Given the description of an element on the screen output the (x, y) to click on. 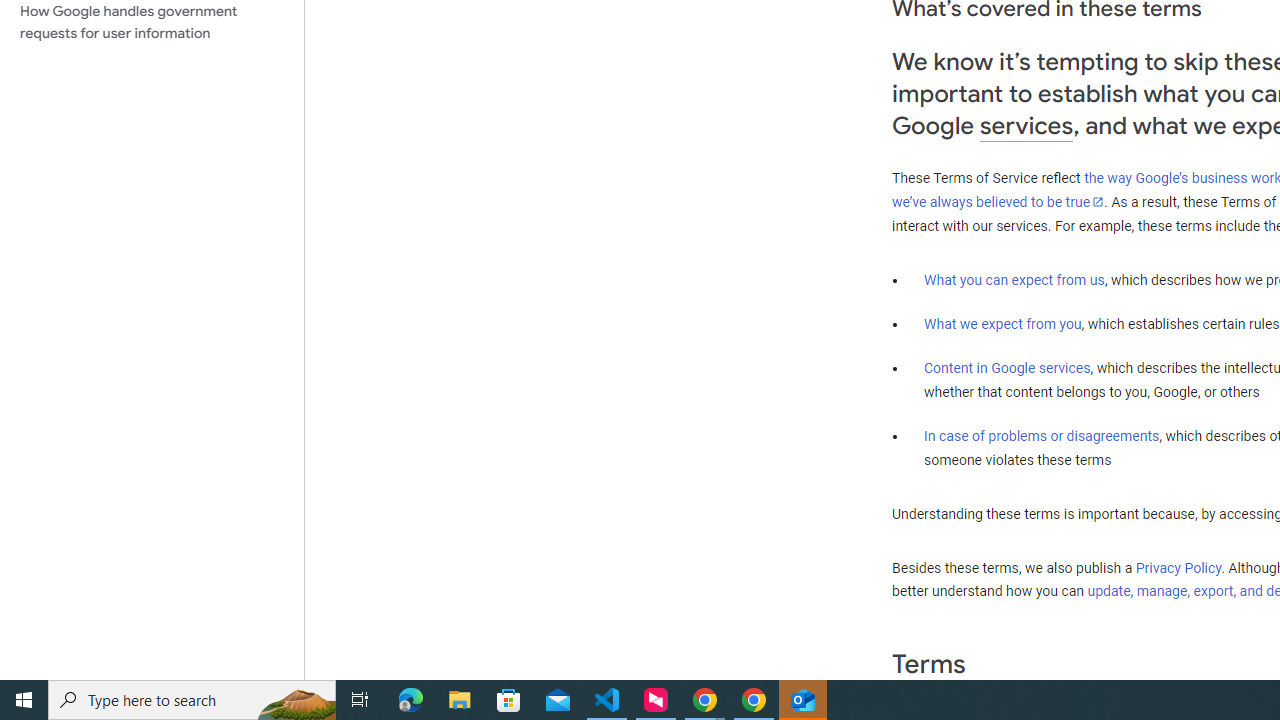
What we expect from you (1002, 323)
What you can expect from us (1014, 279)
